Given the description of an element on the screen output the (x, y) to click on. 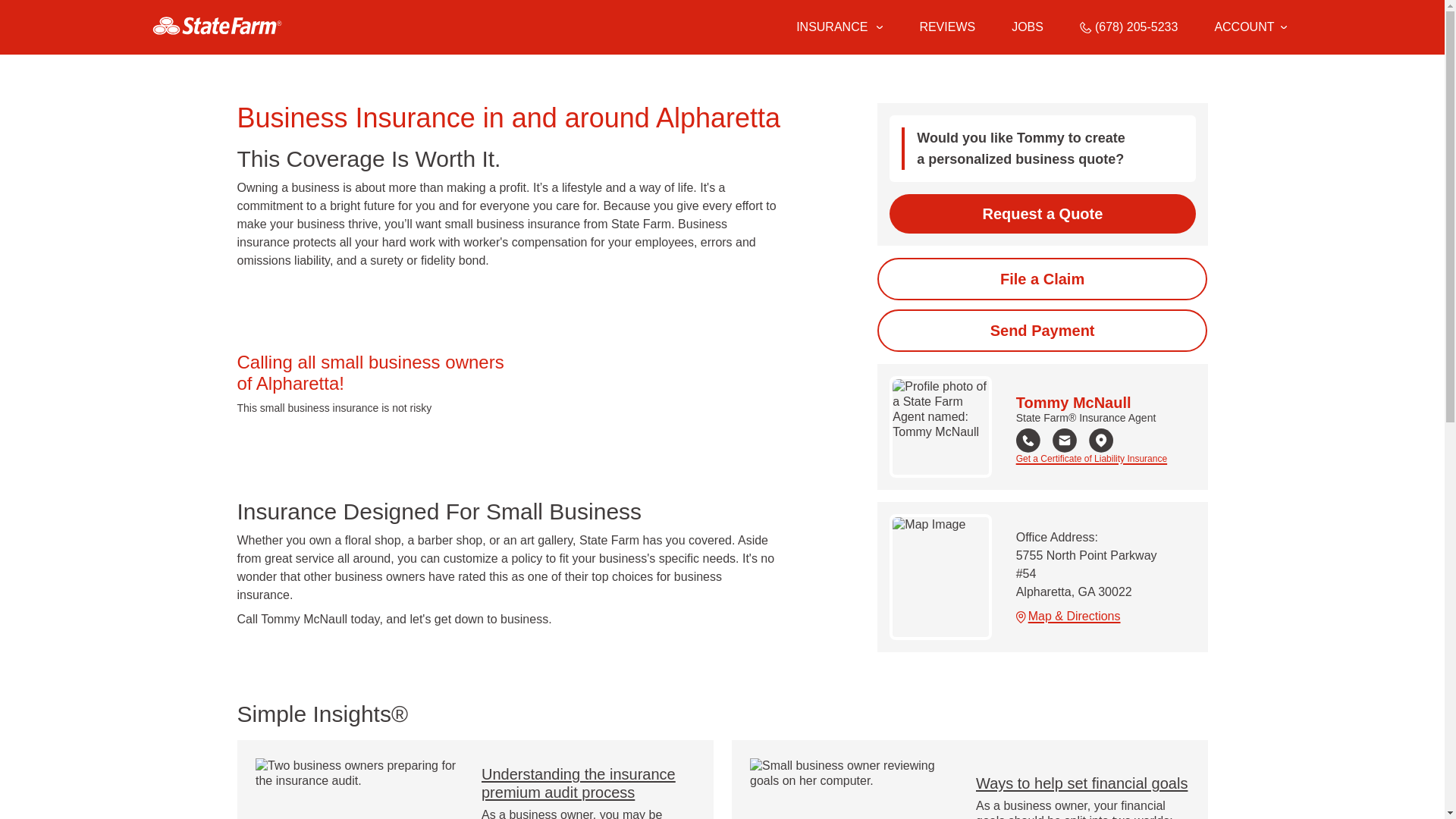
Request a Quote (1042, 213)
Account Options (1250, 27)
ACCOUNT (1250, 27)
Insurance (839, 27)
Start the claim process online (1042, 278)
REVIEWS (946, 27)
INSURANCE (830, 27)
JOBS (1027, 27)
